Given the description of an element on the screen output the (x, y) to click on. 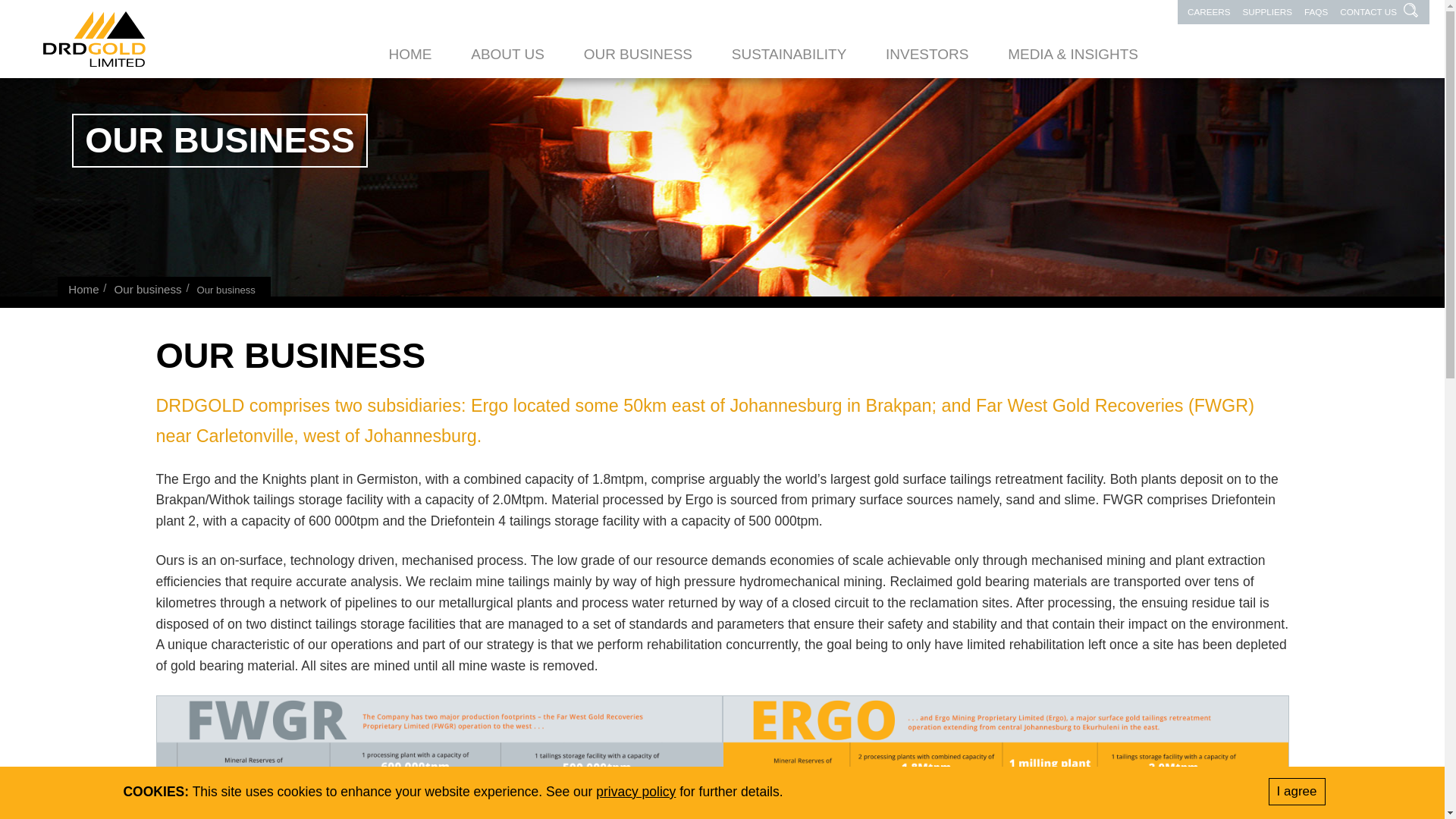
INVESTORS (926, 54)
OUR BUSINESS (638, 54)
SUSTAINABILITY (788, 54)
HOME (410, 54)
ABOUT US (507, 54)
